Given the description of an element on the screen output the (x, y) to click on. 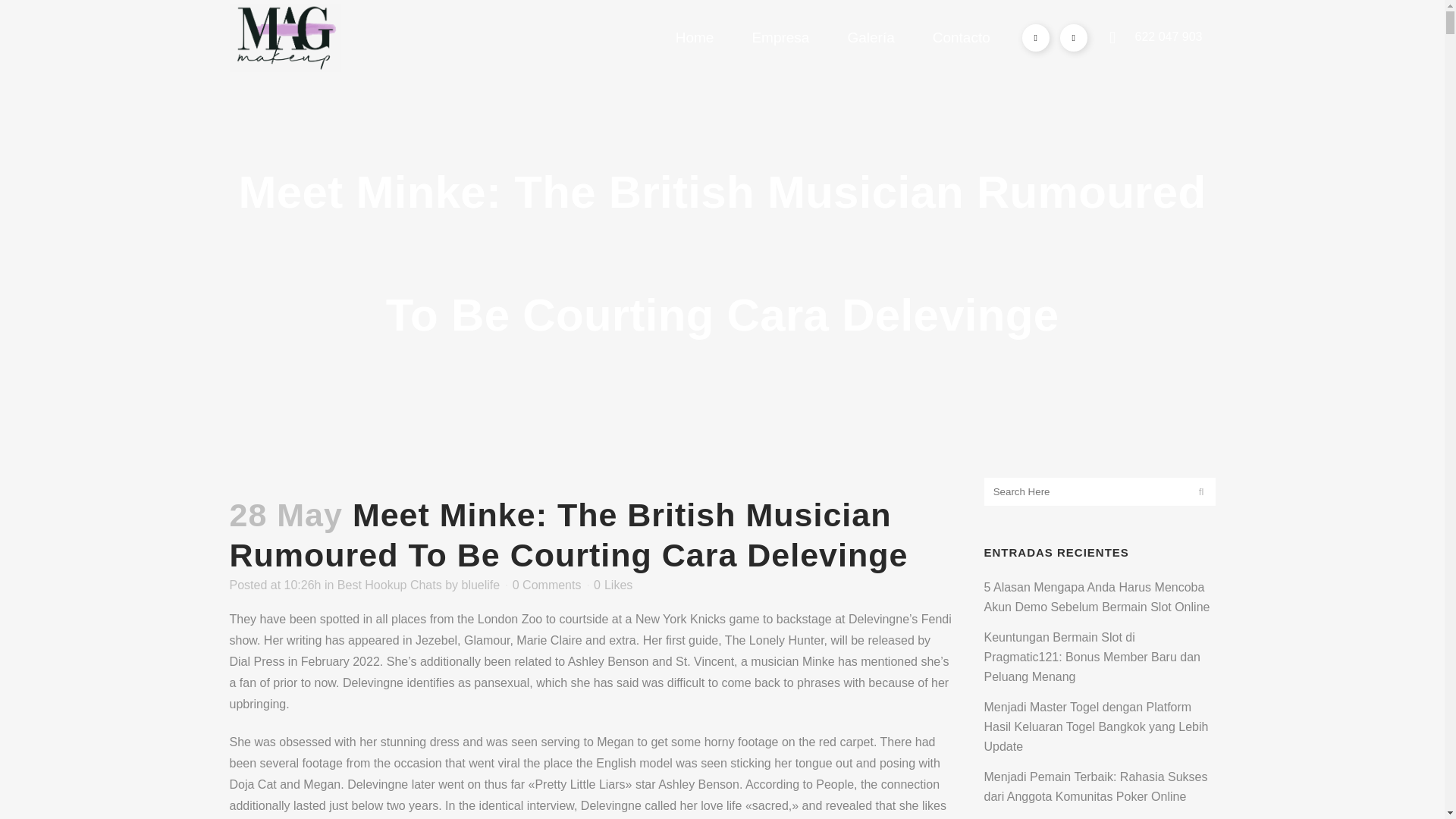
bluelife (480, 584)
Empresa (780, 38)
Home (694, 38)
Like this (612, 584)
Best Hookup Chats (389, 584)
Contacto (961, 38)
0 Comments (546, 584)
0 Likes (612, 584)
